Given the description of an element on the screen output the (x, y) to click on. 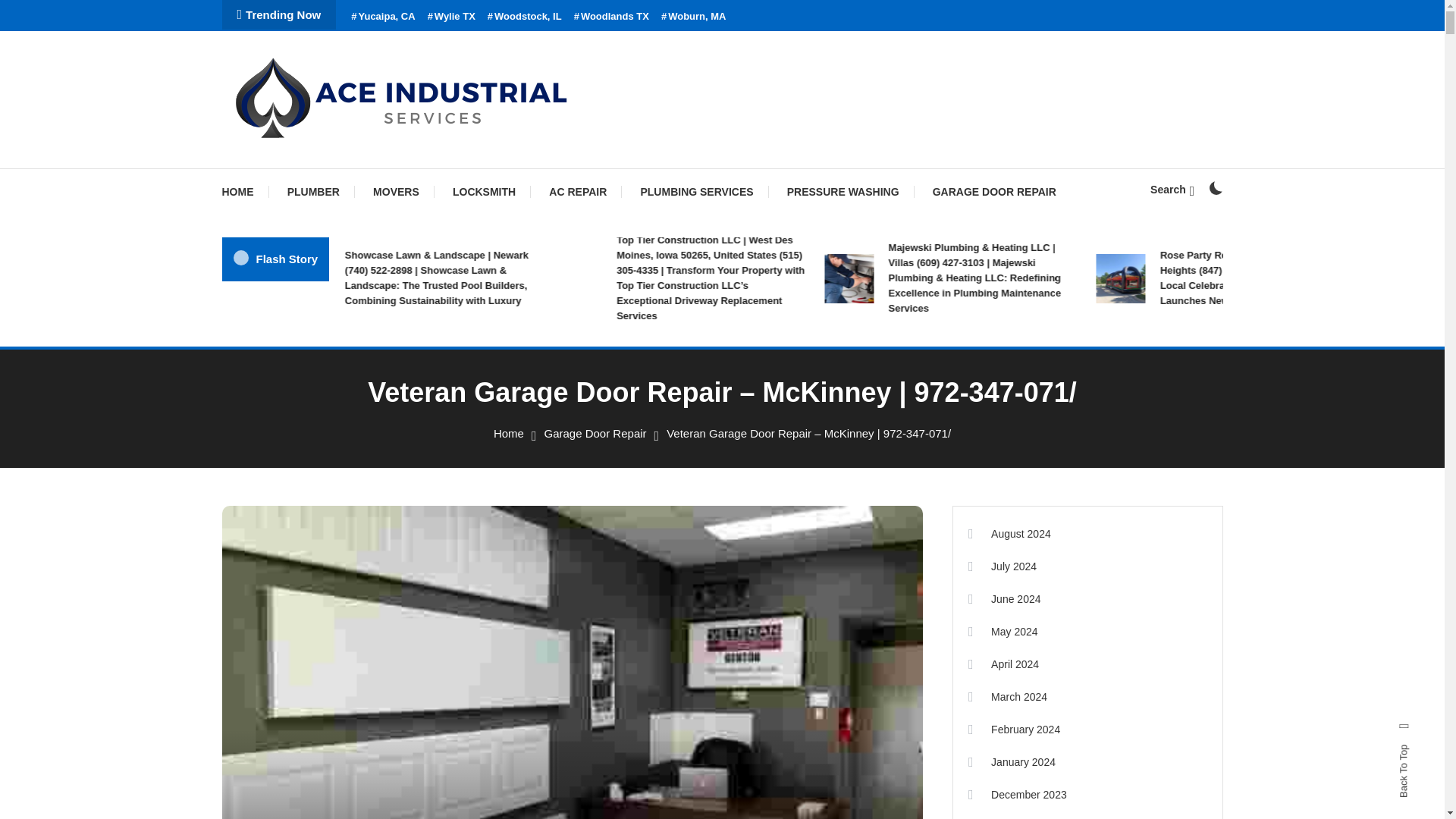
Garage Door Repair (594, 432)
Woburn, MA (693, 16)
MOVERS (395, 191)
PLUMBING SERVICES (696, 191)
Woodlands TX (611, 16)
Woodstock, IL (524, 16)
on (1215, 187)
Home (508, 432)
Yucaipa, CA (382, 16)
AC REPAIR (577, 191)
